Given the description of an element on the screen output the (x, y) to click on. 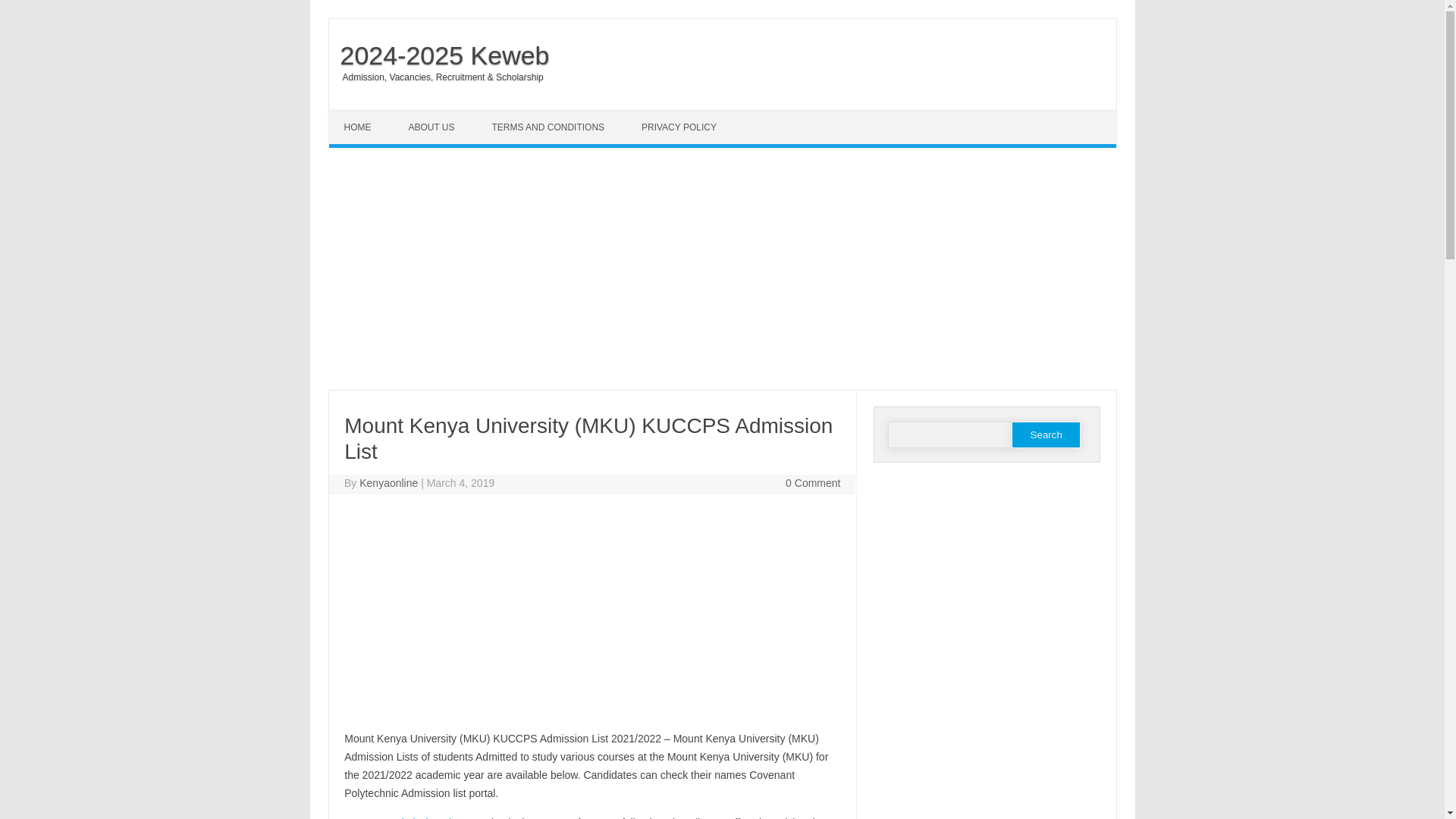
ABOUT US (433, 127)
TERMS AND CONDITIONS (549, 127)
Search (1045, 434)
Posts by Kenyaonline (388, 482)
Kenyaonline (388, 482)
KUCCPS Admission Lists (403, 817)
0 Comment (813, 482)
2024-2025 Keweb (439, 54)
Skip to content (363, 114)
Advertisement (591, 615)
2024-2025 Keweb (439, 54)
HOME (359, 127)
Skip to content (363, 114)
PRIVACY POLICY (680, 127)
